Given the description of an element on the screen output the (x, y) to click on. 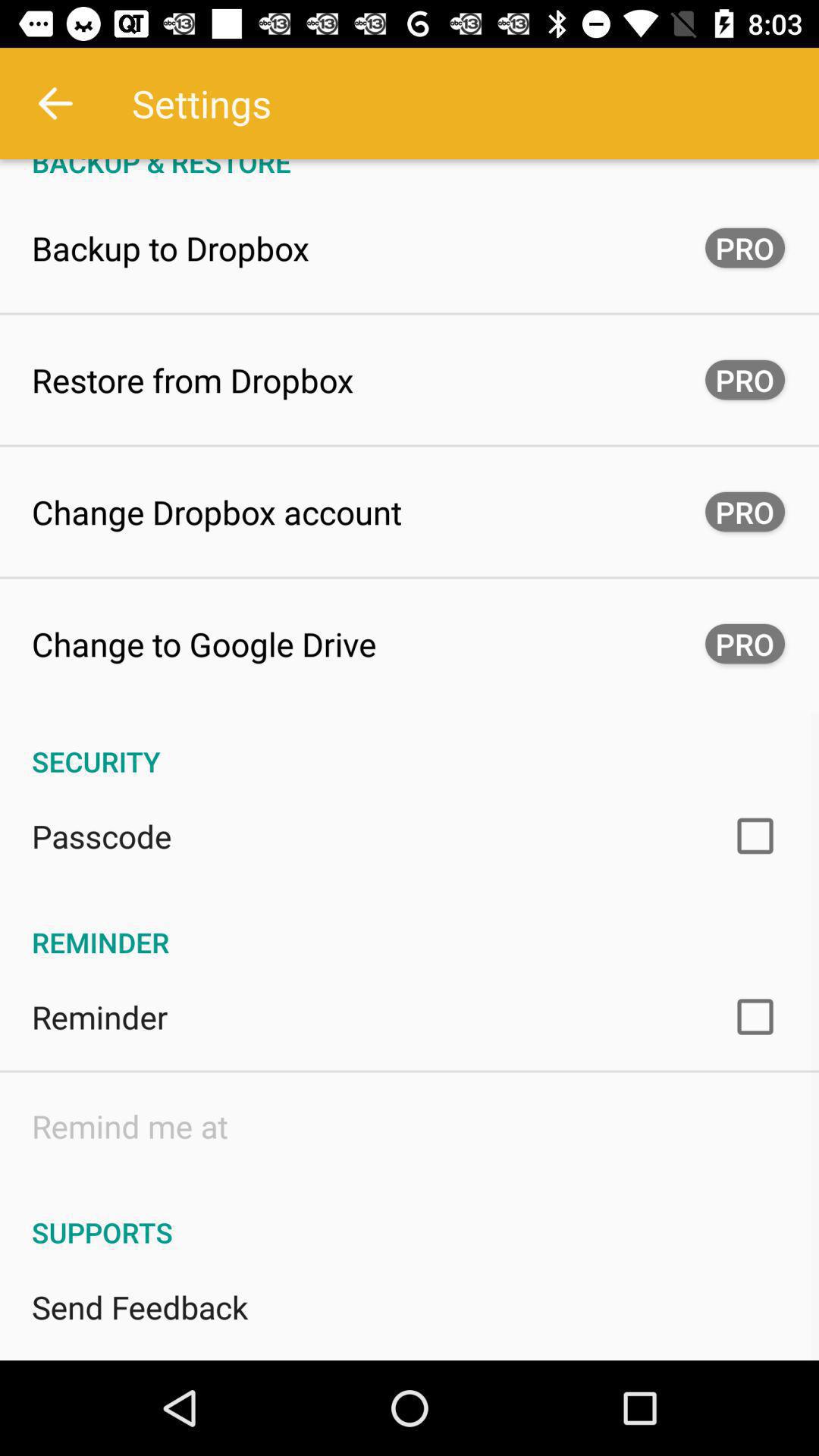
scroll to backup to dropbox icon (170, 247)
